Given the description of an element on the screen output the (x, y) to click on. 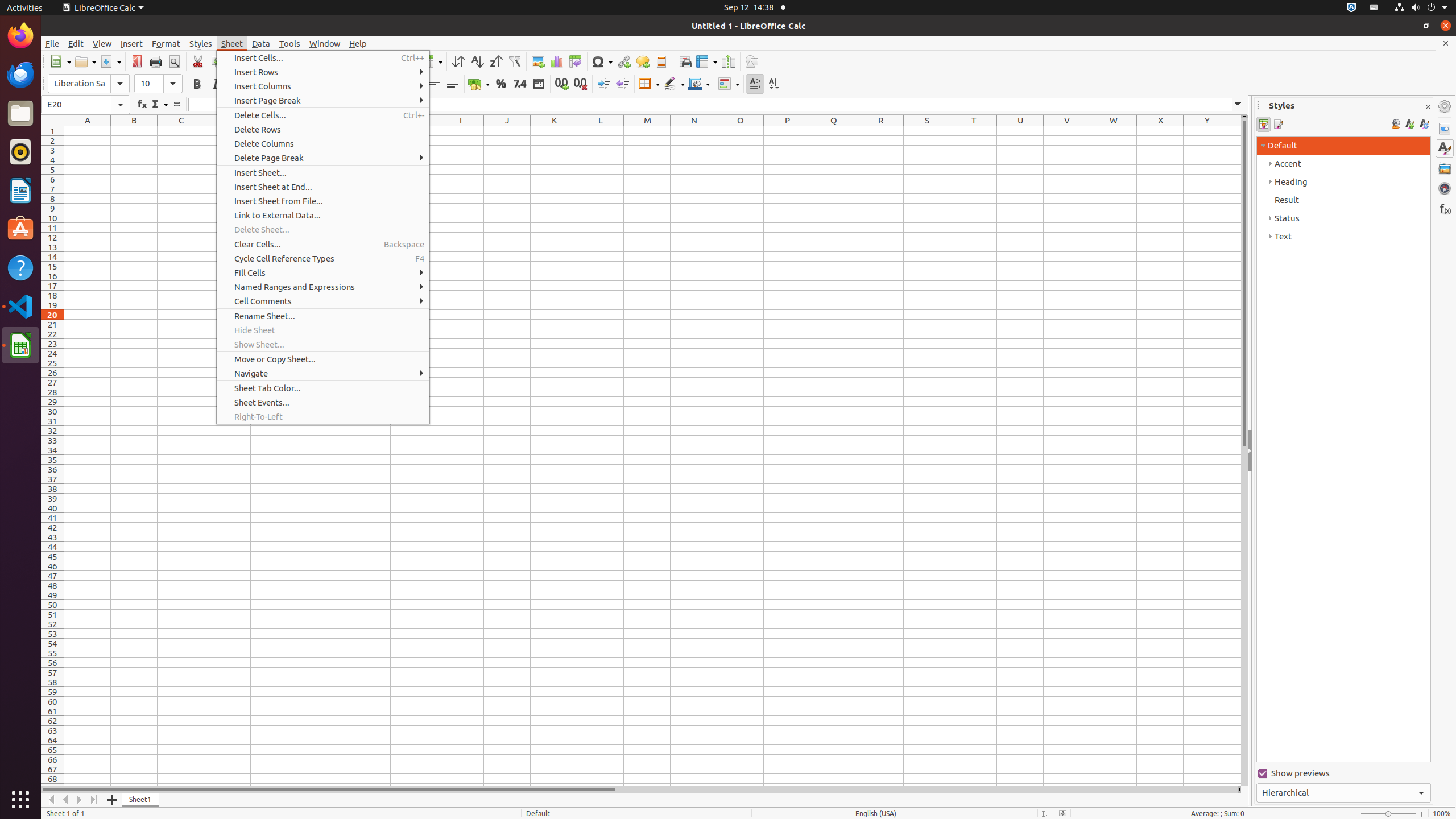
Sort Element type: push-button (457, 61)
Properties Element type: radio-button (1444, 128)
Hyperlink Element type: toggle-button (623, 61)
Rhythmbox Element type: push-button (20, 151)
AutoFilter Element type: push-button (514, 61)
